Given the description of an element on the screen output the (x, y) to click on. 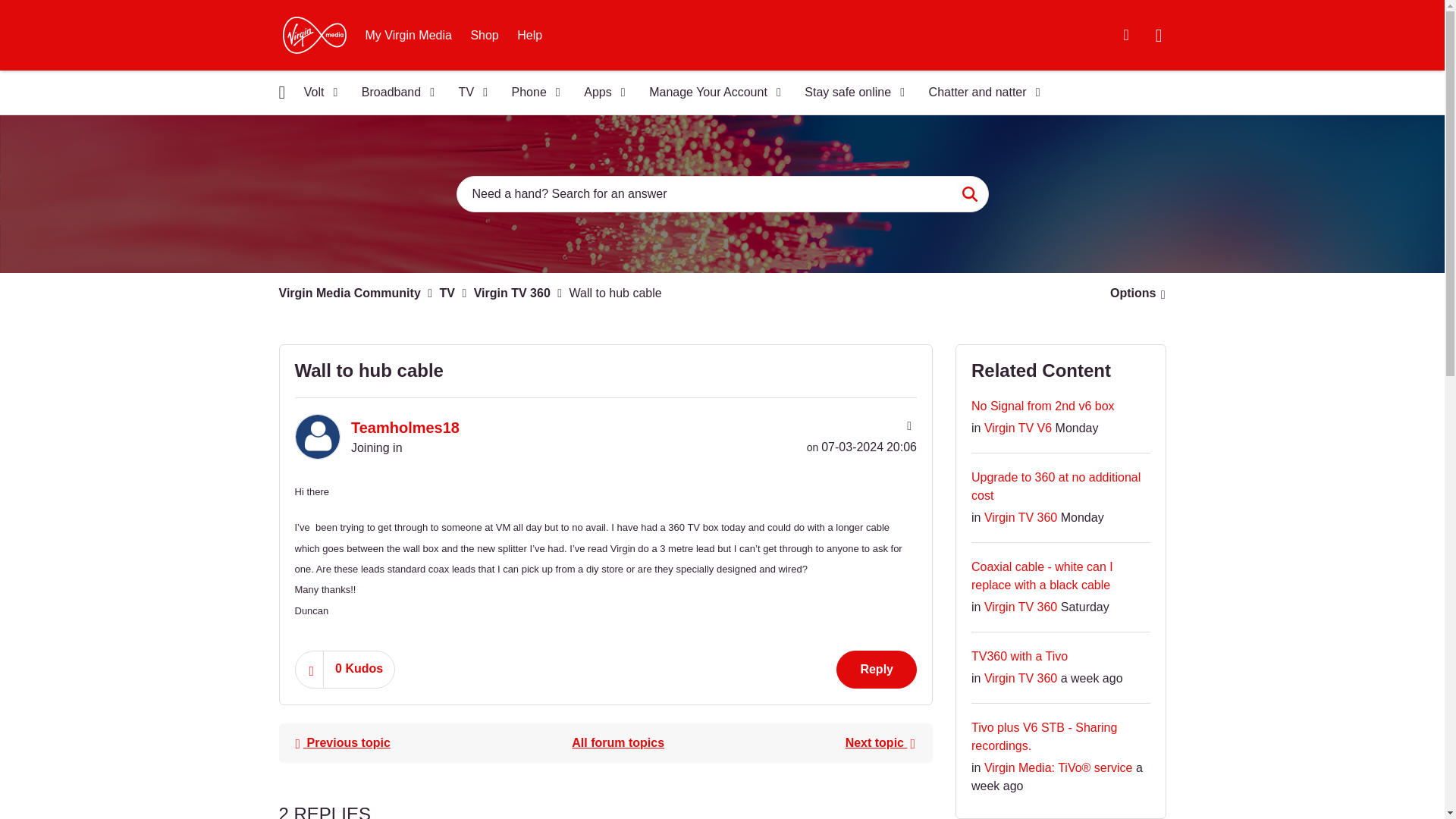
Apps (599, 92)
Teamholmes18 (316, 436)
Search (969, 193)
Help (529, 34)
The total number of kudos this post has received. (358, 668)
Search (722, 194)
Broadband (392, 92)
Virgin TV 360 (618, 742)
Phone (531, 92)
My Virgin Media (409, 34)
